Given the description of an element on the screen output the (x, y) to click on. 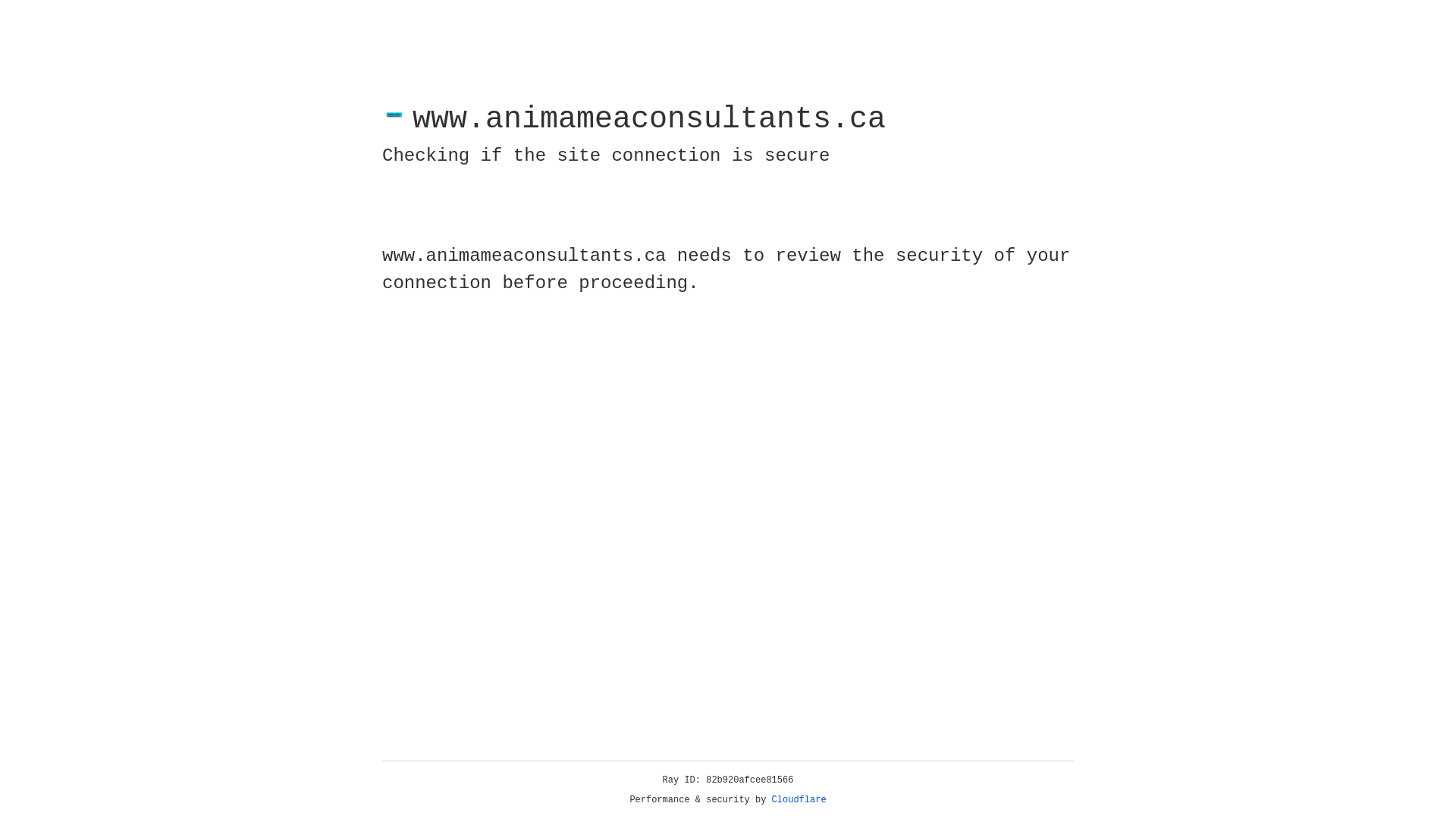
Cloudflare Element type: text (798, 799)
